Given the description of an element on the screen output the (x, y) to click on. 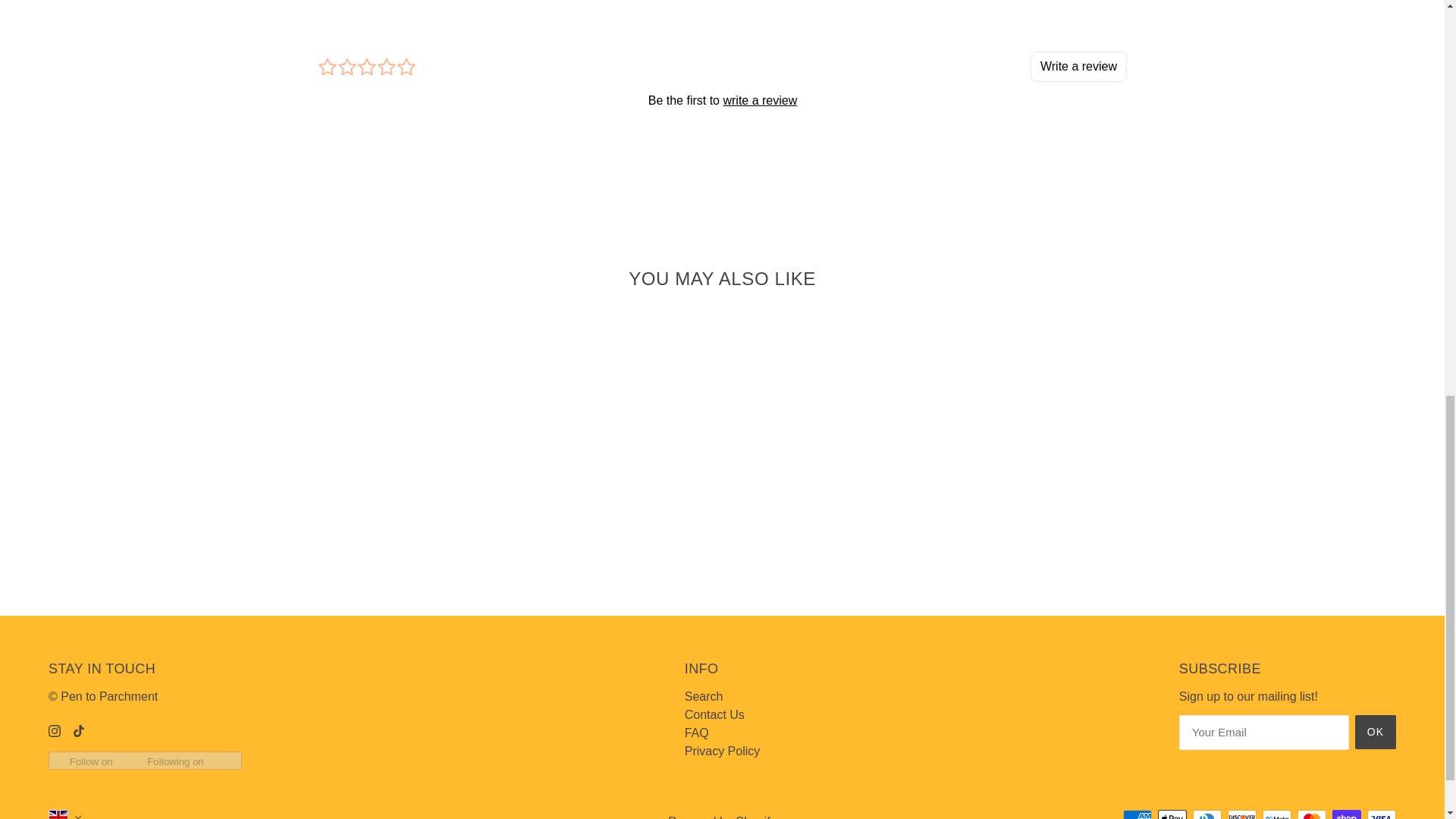
Contact Us (714, 714)
Product reviews widget (722, 99)
FAQ (696, 732)
Search (703, 696)
Privacy Policy (722, 750)
FAQ (696, 732)
Contact Us (714, 714)
Privacy Policy (722, 750)
OK (1375, 731)
